Given the description of an element on the screen output the (x, y) to click on. 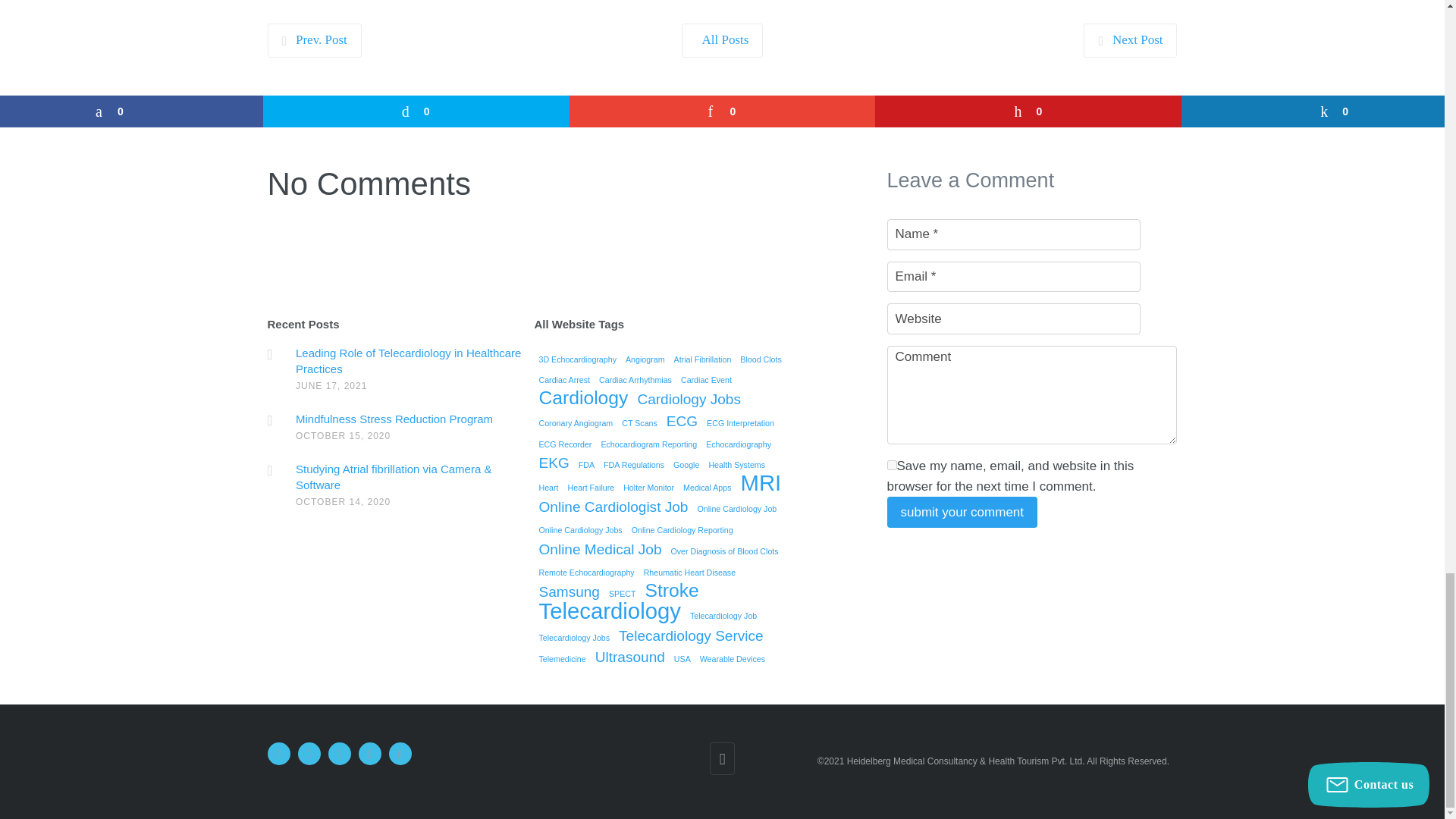
yes (891, 465)
SUBMIT YOUR COMMENT (962, 511)
